Given the description of an element on the screen output the (x, y) to click on. 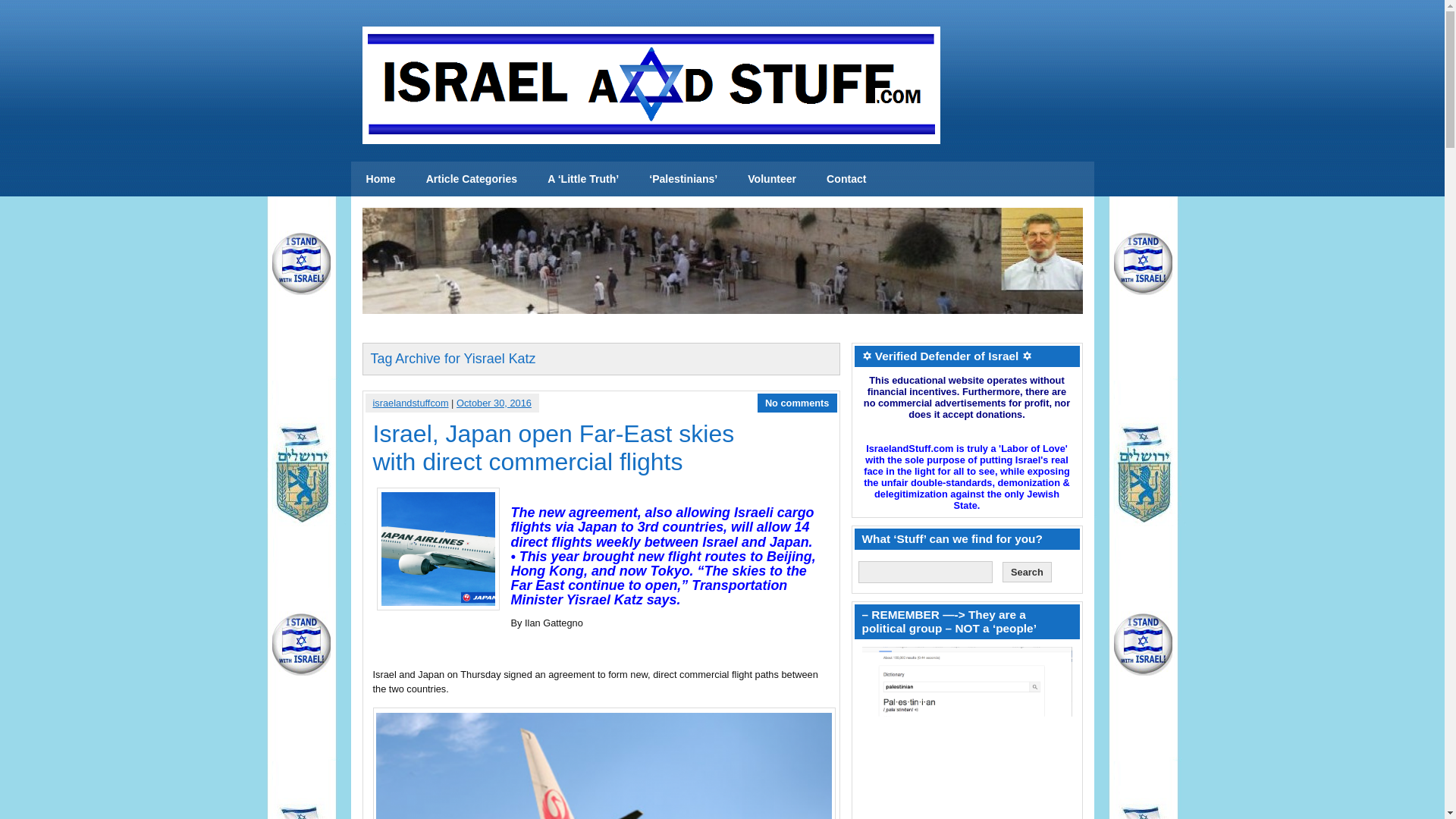
October 30, 2016 (494, 402)
Home (380, 178)
Contact (845, 178)
Search (1027, 571)
Volunteer (771, 178)
Posts by israelandstuffcom (410, 402)
No comments (797, 402)
israelandstuffcom (410, 402)
news (380, 178)
Article Categories (471, 178)
